Given the description of an element on the screen output the (x, y) to click on. 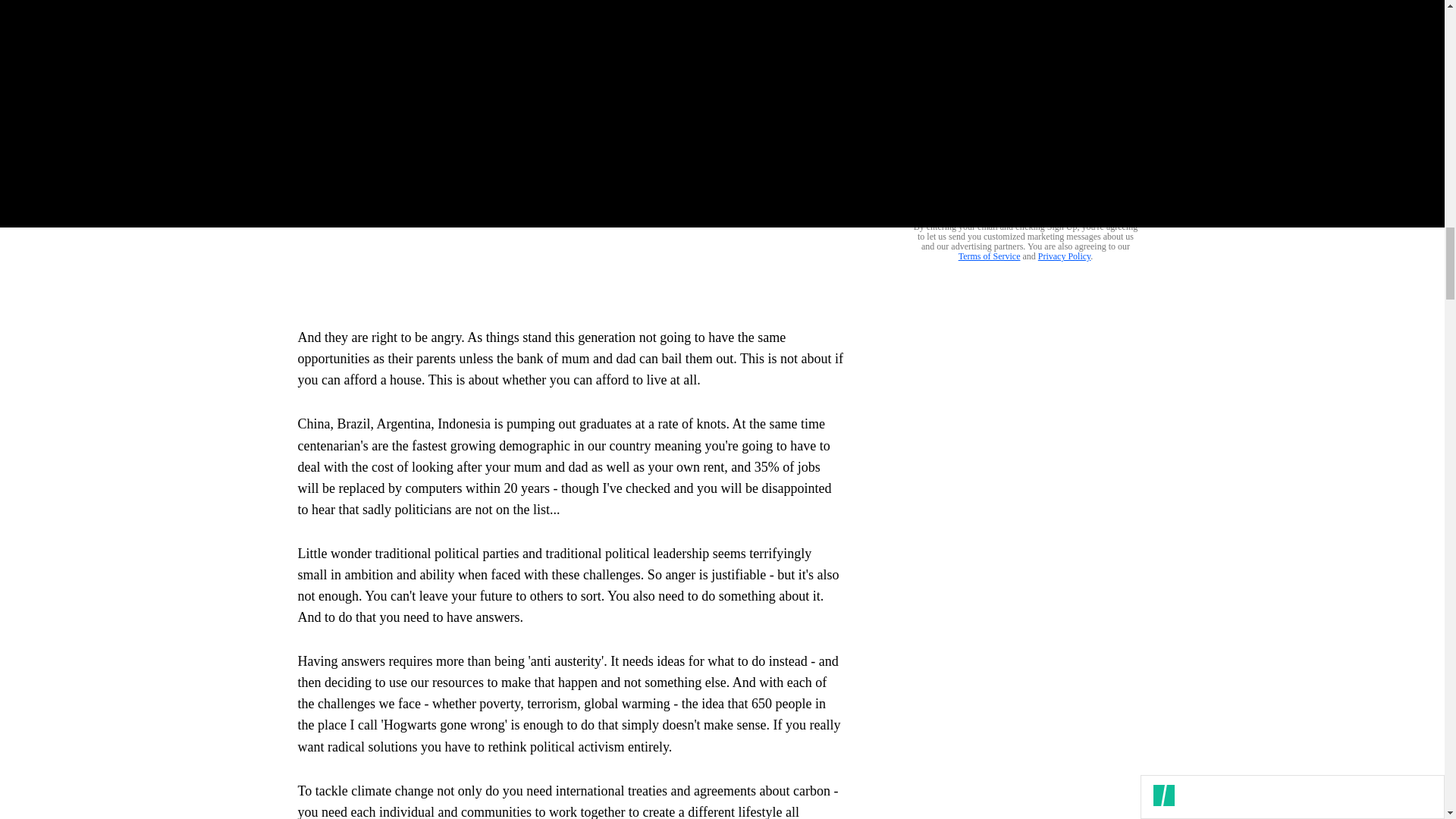
SIGN UP (1098, 195)
